Given the description of an element on the screen output the (x, y) to click on. 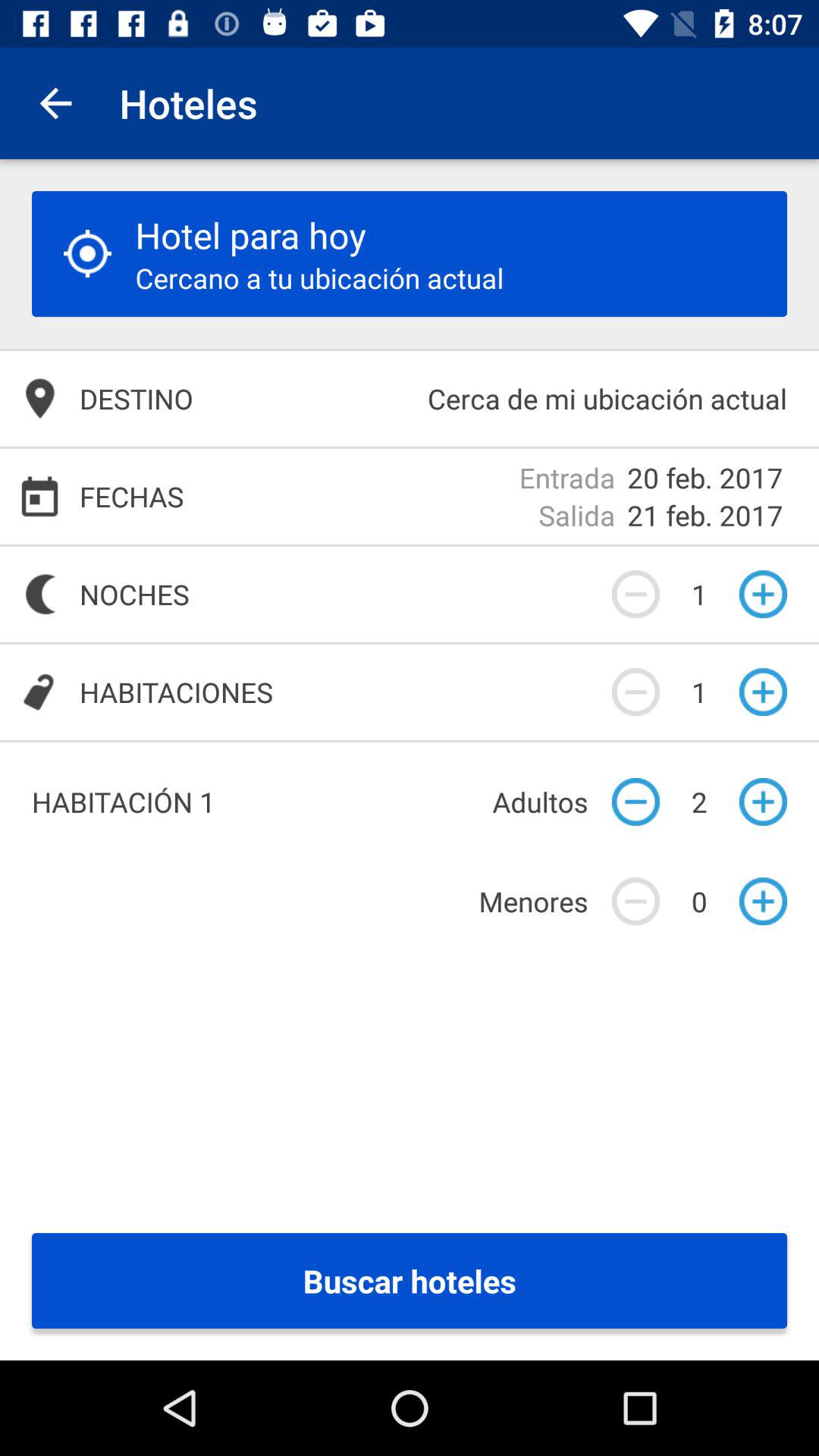
choose item to the left of hoteles (55, 103)
